Given the description of an element on the screen output the (x, y) to click on. 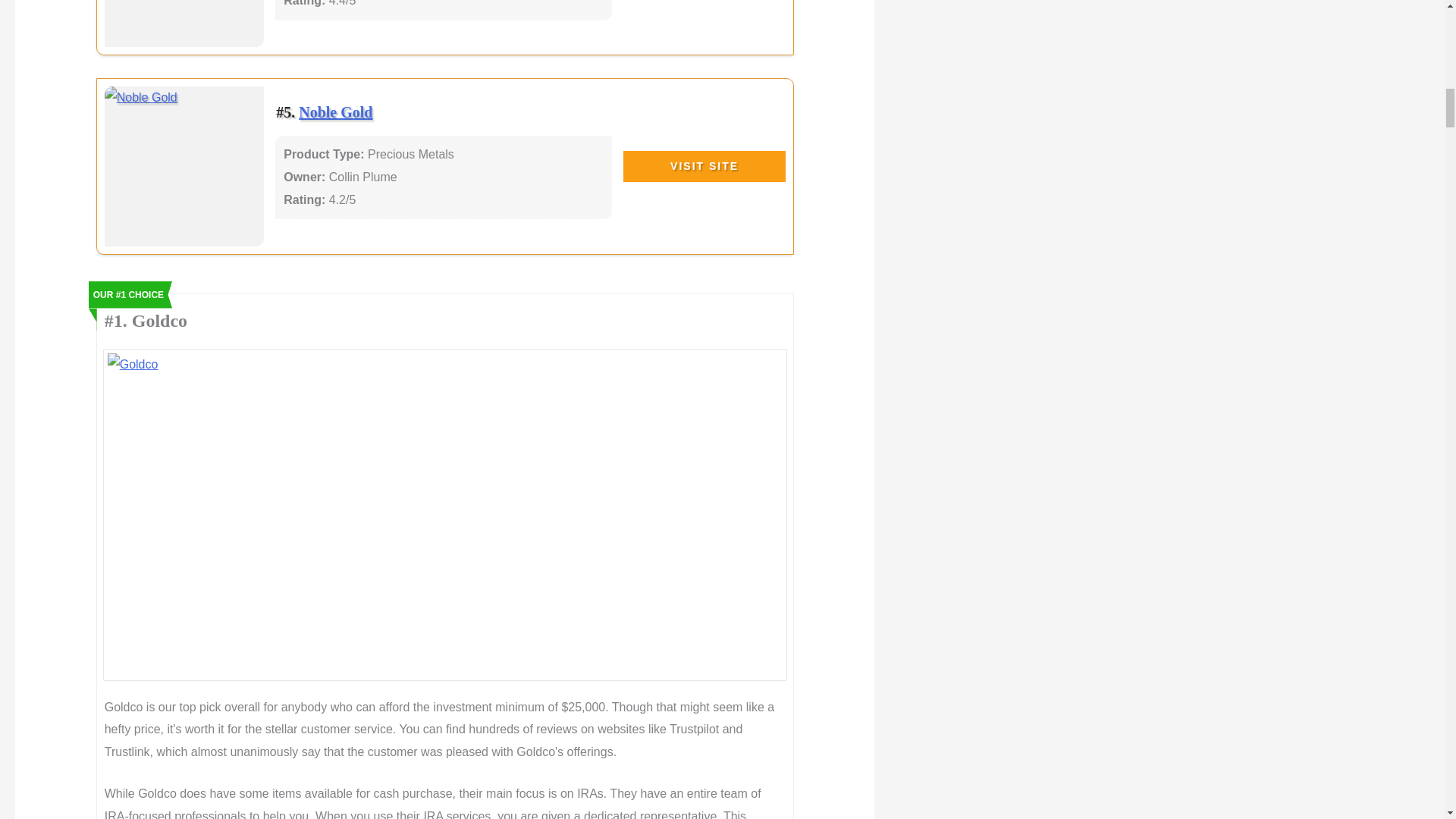
Noble Gold (335, 112)
Noble Gold (184, 166)
Birch Gold Group (184, 23)
Noble Gold (335, 112)
VISIT SITE (703, 166)
